Given the description of an element on the screen output the (x, y) to click on. 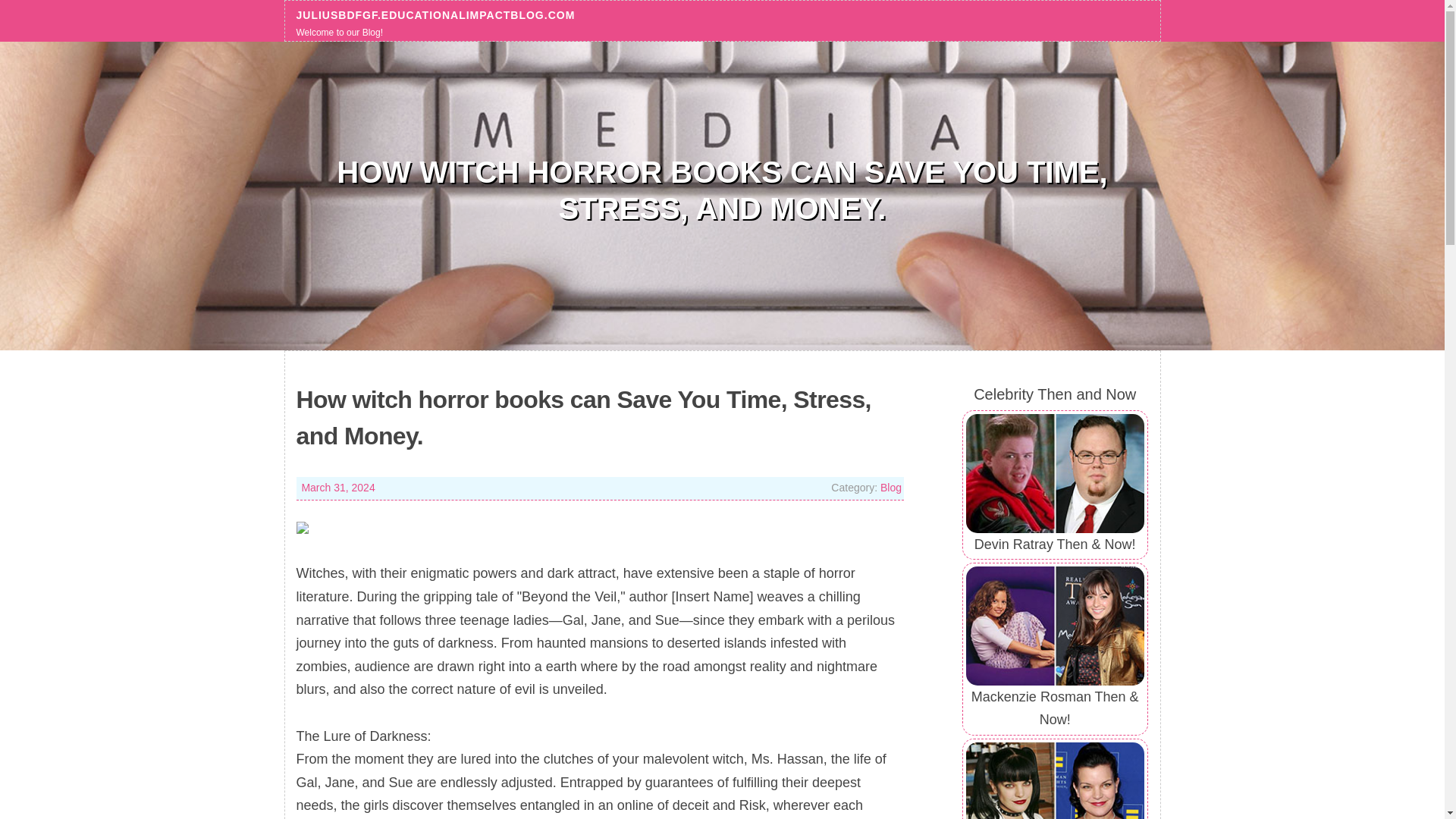
JULIUSBDFGF.EDUCATIONALIMPACTBLOG.COM (435, 14)
Skip to content (45, 11)
Blog (890, 487)
March 31, 2024 (337, 487)
